Given the description of an element on the screen output the (x, y) to click on. 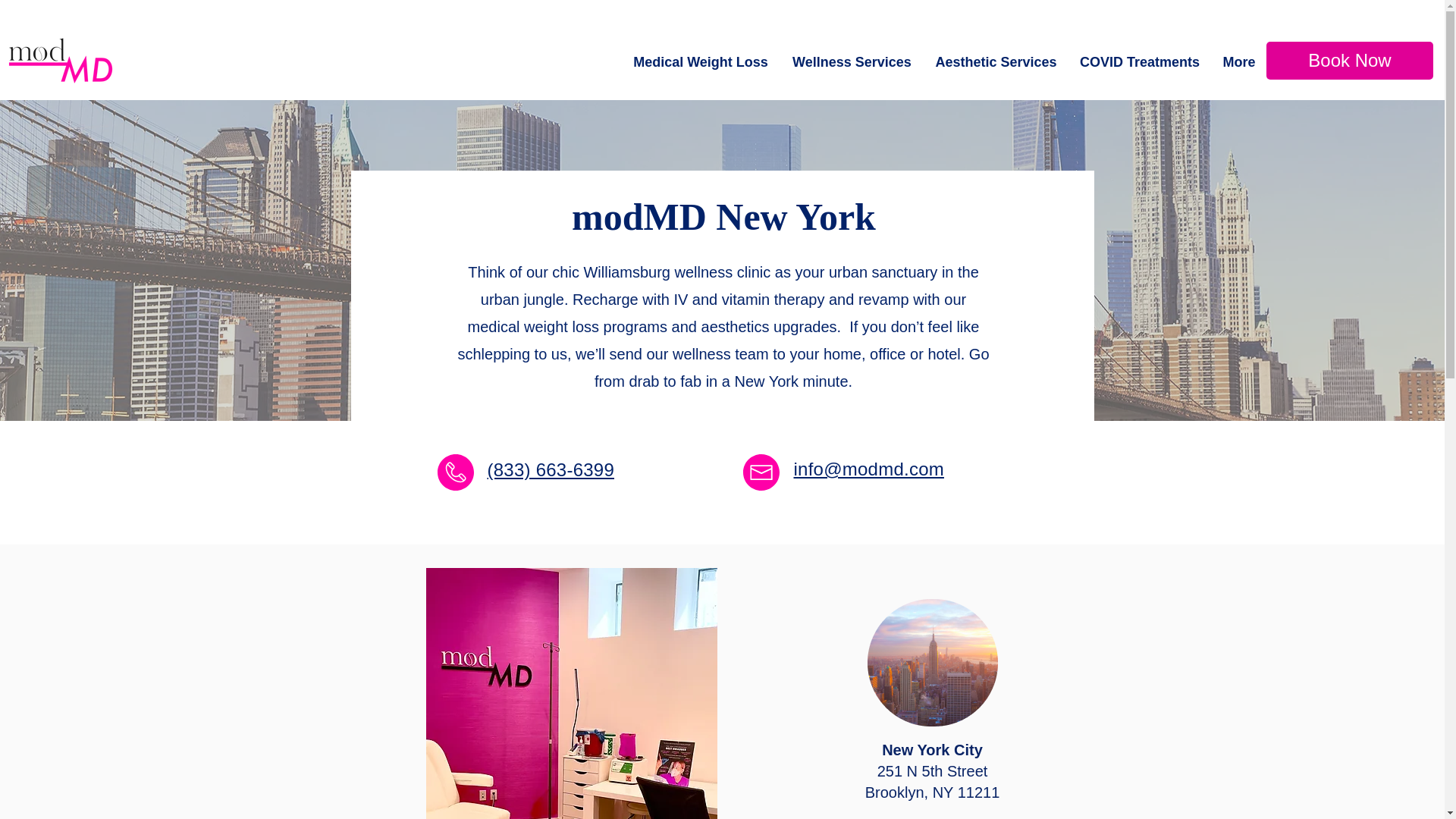
Aesthetic Services (995, 61)
Lab (1196, 62)
Book Now (1349, 60)
Wellness Services (851, 61)
COVID Treatments (1139, 61)
Book Now (1333, 62)
About Us (1071, 62)
Home (940, 62)
Medical Weight Loss (700, 61)
